Given the description of an element on the screen output the (x, y) to click on. 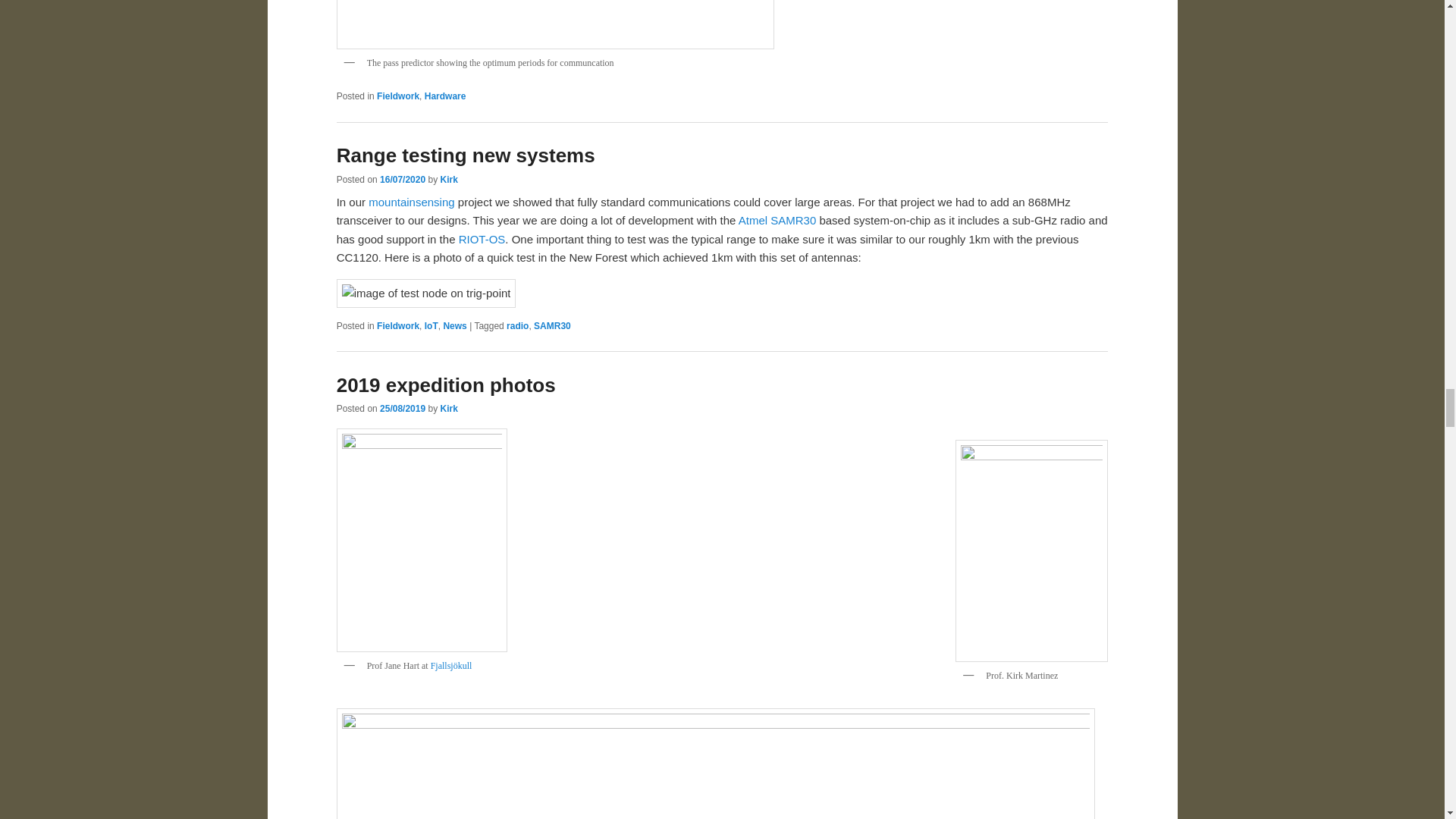
10:10 (402, 179)
View all posts by Kirk (448, 408)
View all posts by Kirk (448, 179)
16:46 (402, 408)
